Given the description of an element on the screen output the (x, y) to click on. 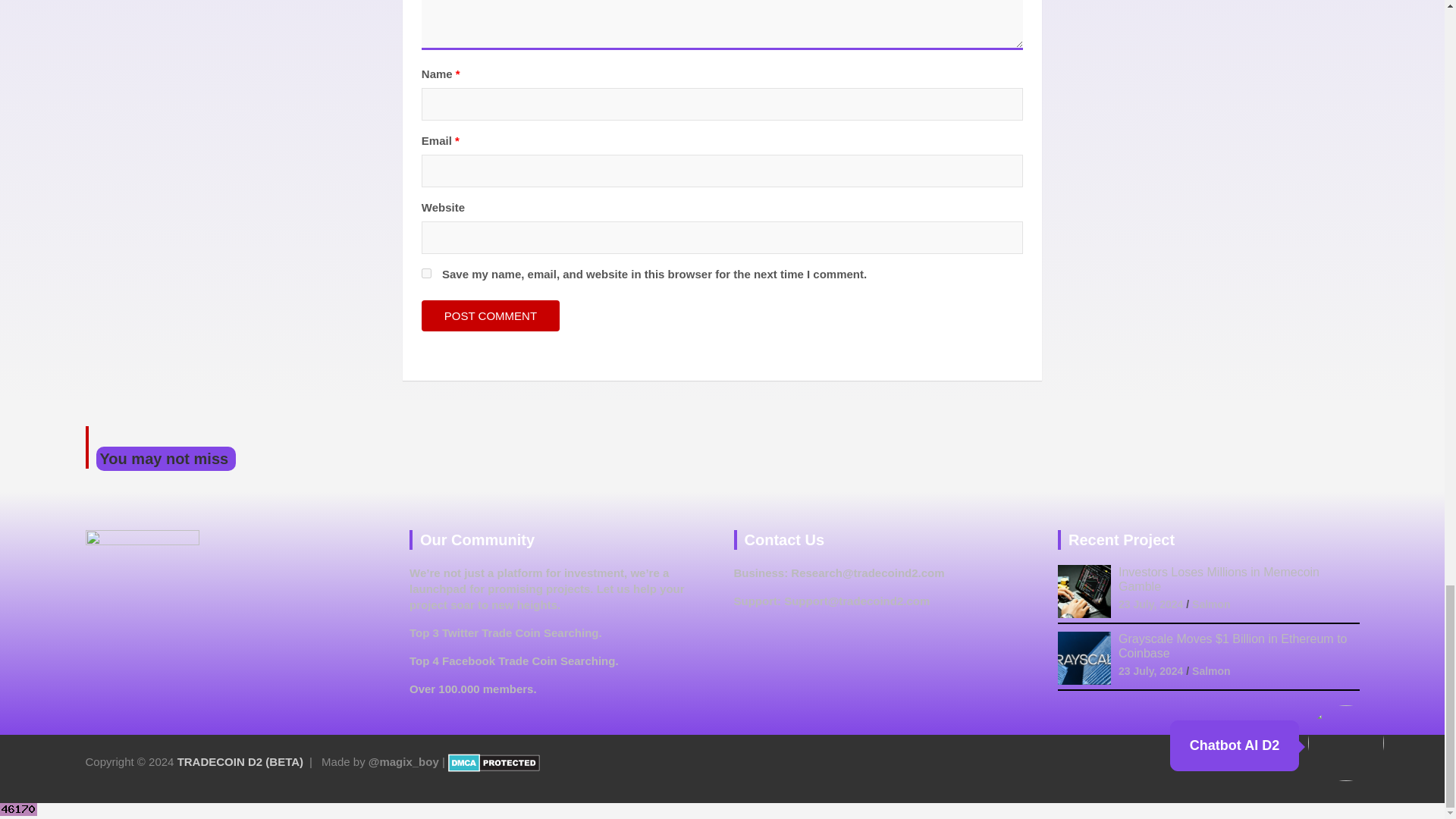
DMCA.com Protection Status (494, 761)
Investors Loses Millions in Memecoin Gamble (1218, 578)
Investors Loses Millions in Memecoin Gamble (1150, 604)
Post Comment (490, 315)
Post Comment (490, 315)
You may not miss (165, 458)
Recent Project (1121, 539)
23 July, 2024 (1150, 604)
yes (426, 273)
